Given the description of an element on the screen output the (x, y) to click on. 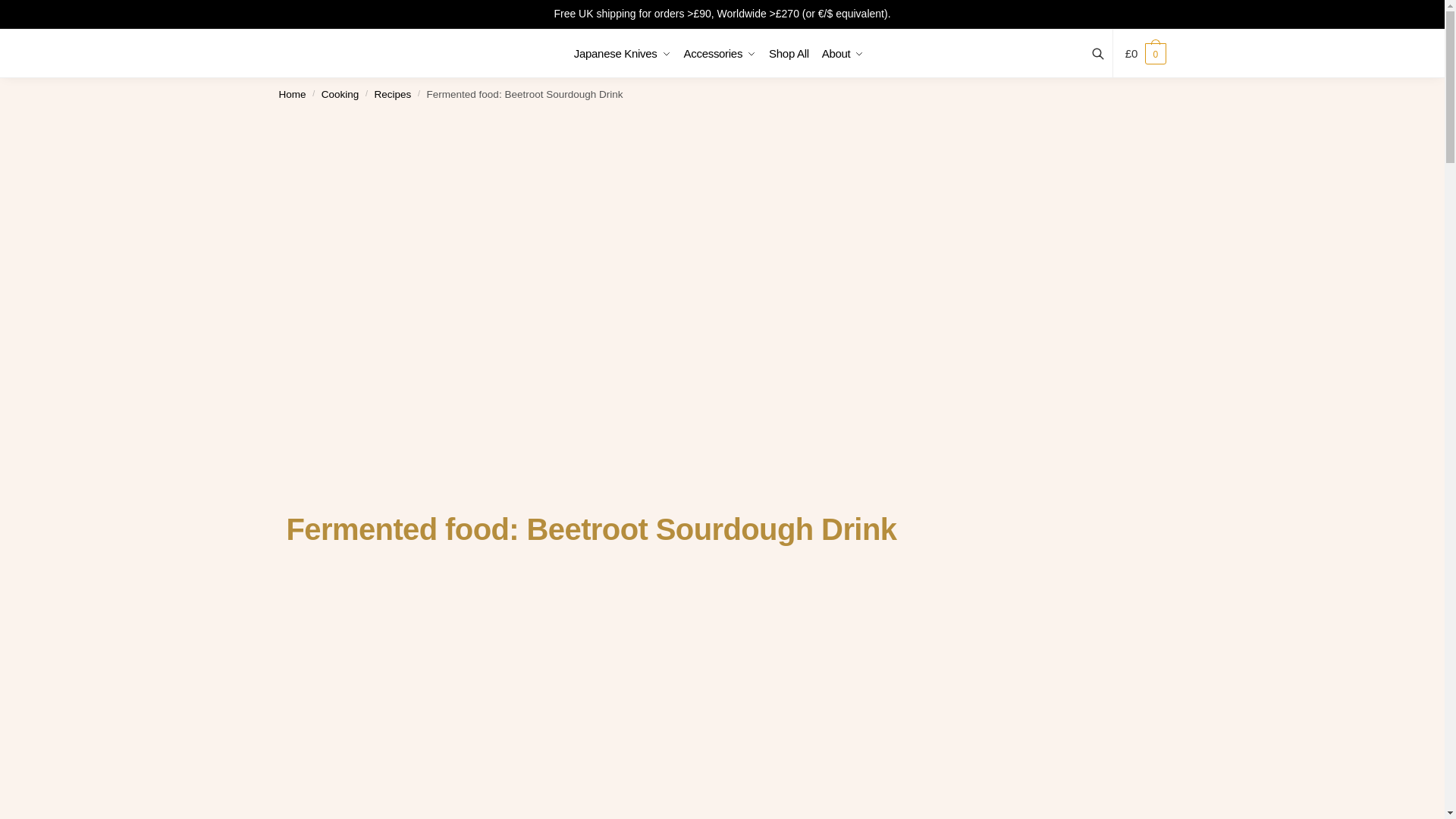
Shop All (788, 53)
About (842, 53)
Accessories (719, 53)
View your shopping cart (1145, 53)
Japanese Knives (625, 53)
